Given the description of an element on the screen output the (x, y) to click on. 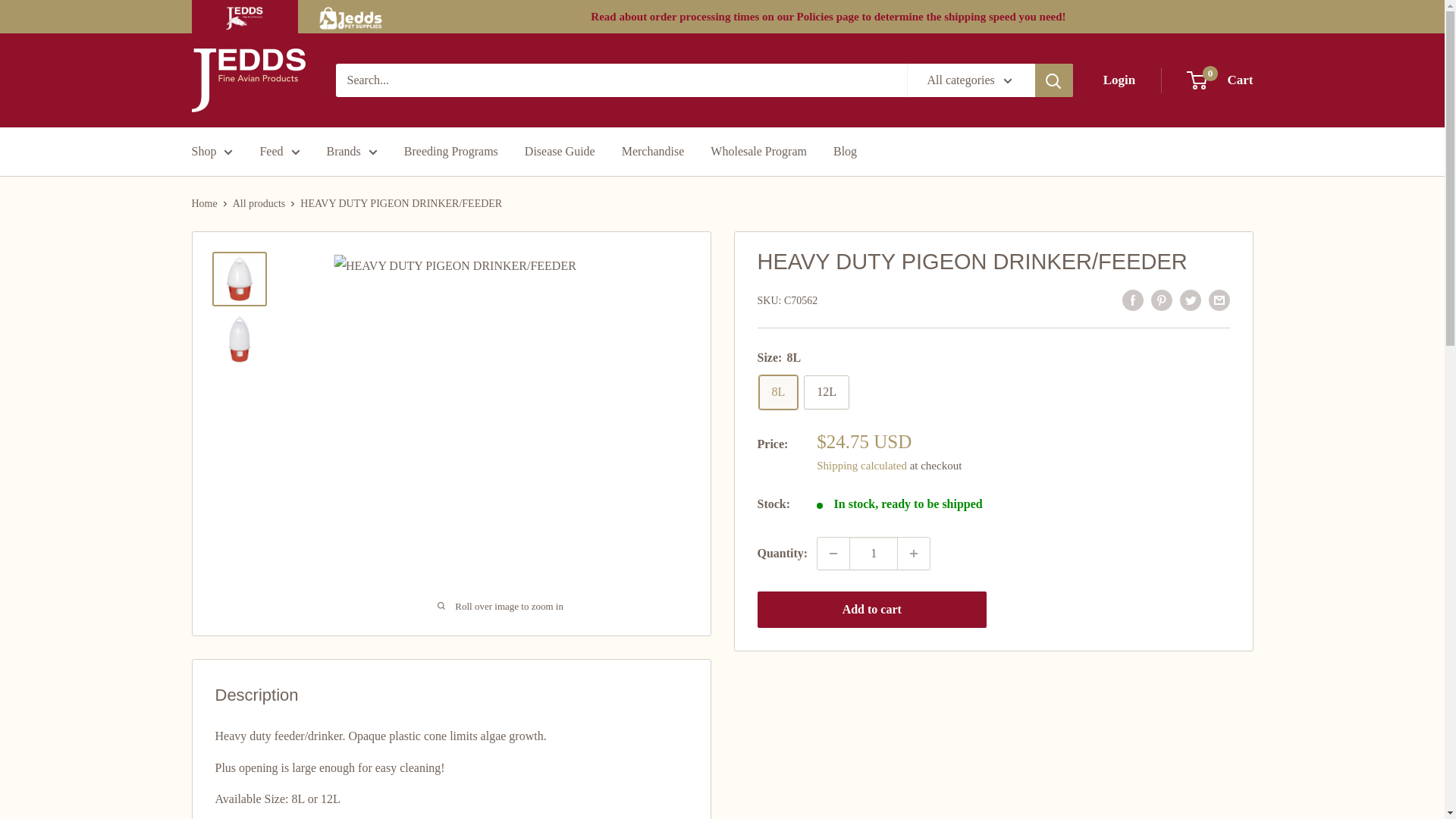
Login (1119, 79)
1 (873, 553)
8L (777, 392)
Increase quantity by 1 (914, 553)
12L (1220, 79)
Jedds Bird Supplies (825, 392)
Decrease quantity by 1 (247, 80)
